Given the description of an element on the screen output the (x, y) to click on. 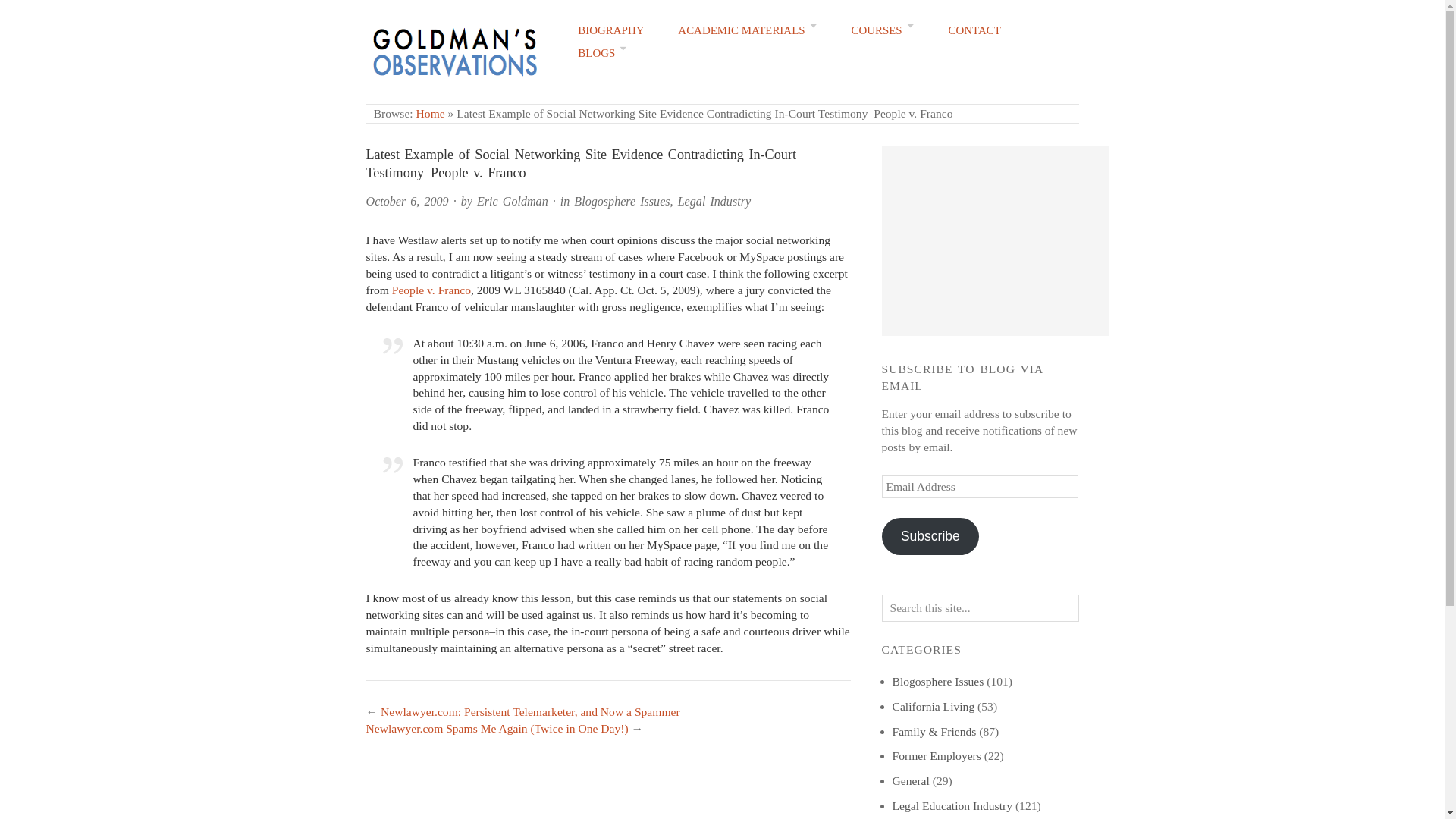
Subscribe (929, 535)
Search this site... (979, 607)
Blogosphere Issues (621, 201)
Home (430, 113)
Posts by Eric Goldman (512, 201)
CONTACT (975, 30)
Legal Education Industry (951, 805)
California Living (932, 706)
Search this site... (979, 607)
General (909, 780)
Eric Goldman (512, 201)
Newlawyer.com: Persistent Telemarketer, and Now a Spammer (529, 711)
Former Employers (935, 755)
ACADEMIC MATERIALS (747, 30)
GOLDMAN'S OBSERVATIONS (509, 114)
